Given the description of an element on the screen output the (x, y) to click on. 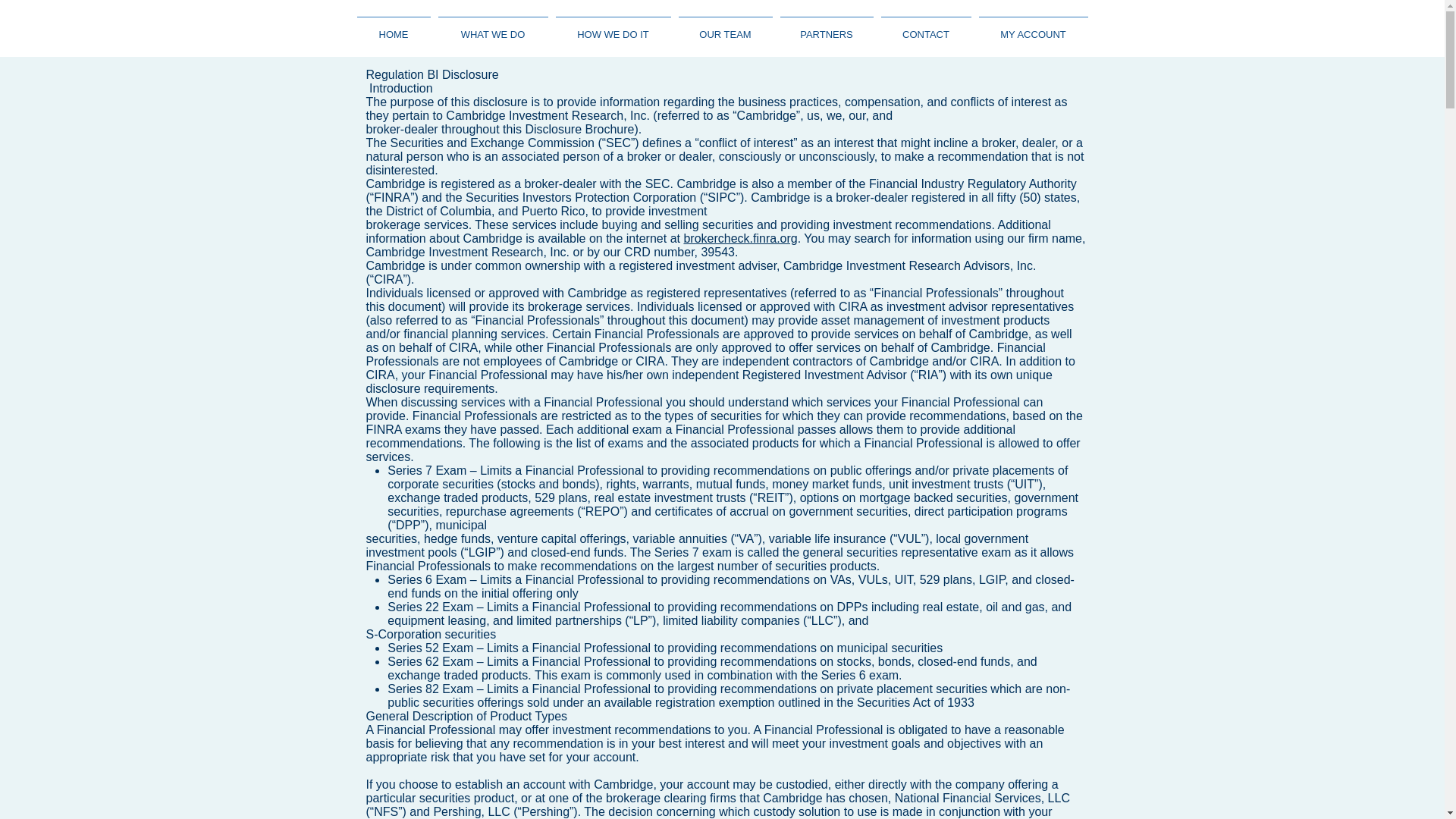
WHAT WE DO (492, 27)
CONTACT (925, 27)
PARTNERS (826, 27)
HOW WE DO IT (613, 27)
OUR TEAM (725, 27)
brokercheck.finra.org (739, 237)
HOME (393, 27)
